Given the description of an element on the screen output the (x, y) to click on. 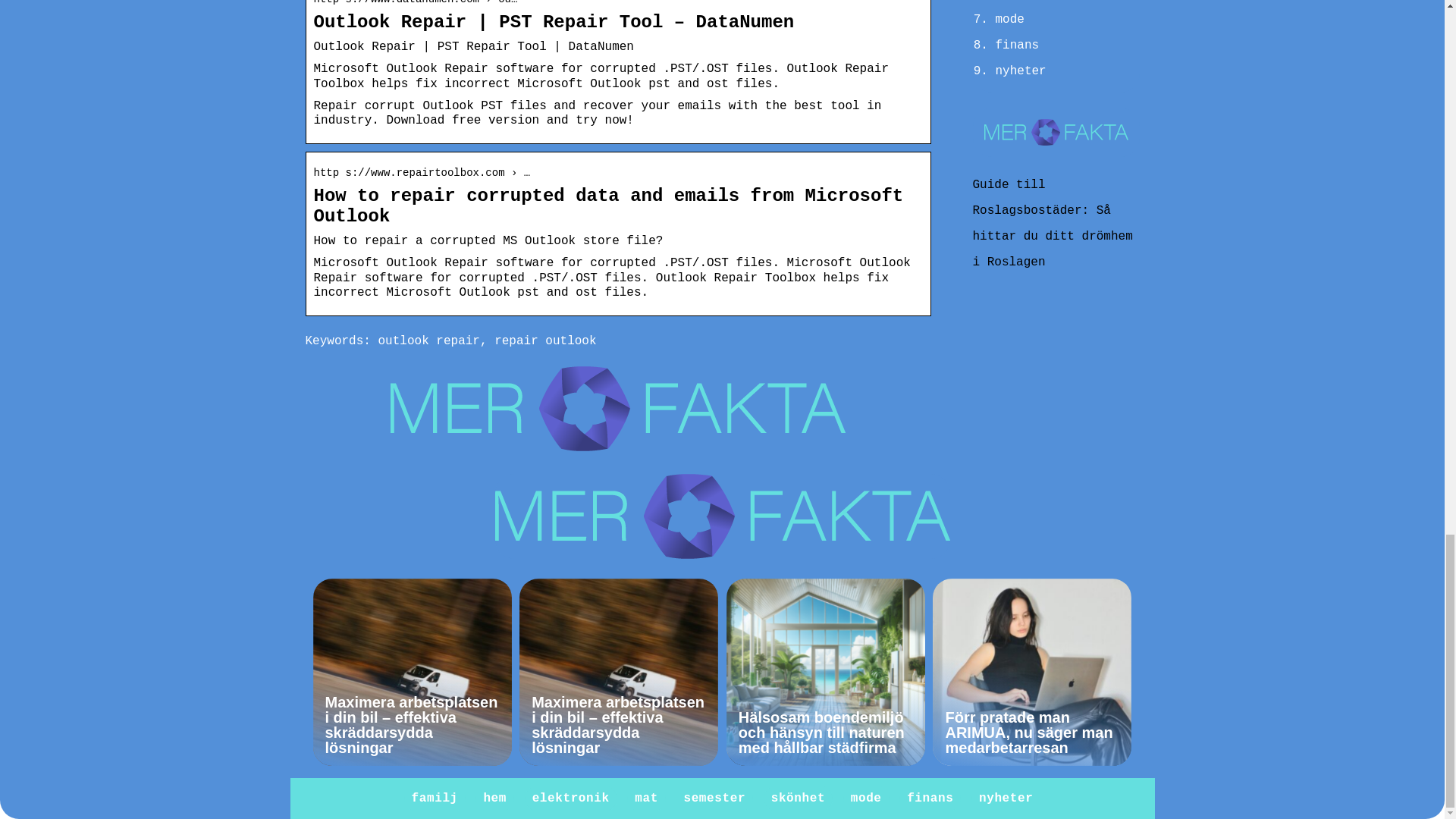
familj (435, 798)
elektronik (571, 798)
mode (866, 798)
mode (1008, 19)
mat (646, 798)
nyheter (1019, 70)
semester (713, 798)
hem (494, 798)
finans (1016, 45)
